Given the description of an element on the screen output the (x, y) to click on. 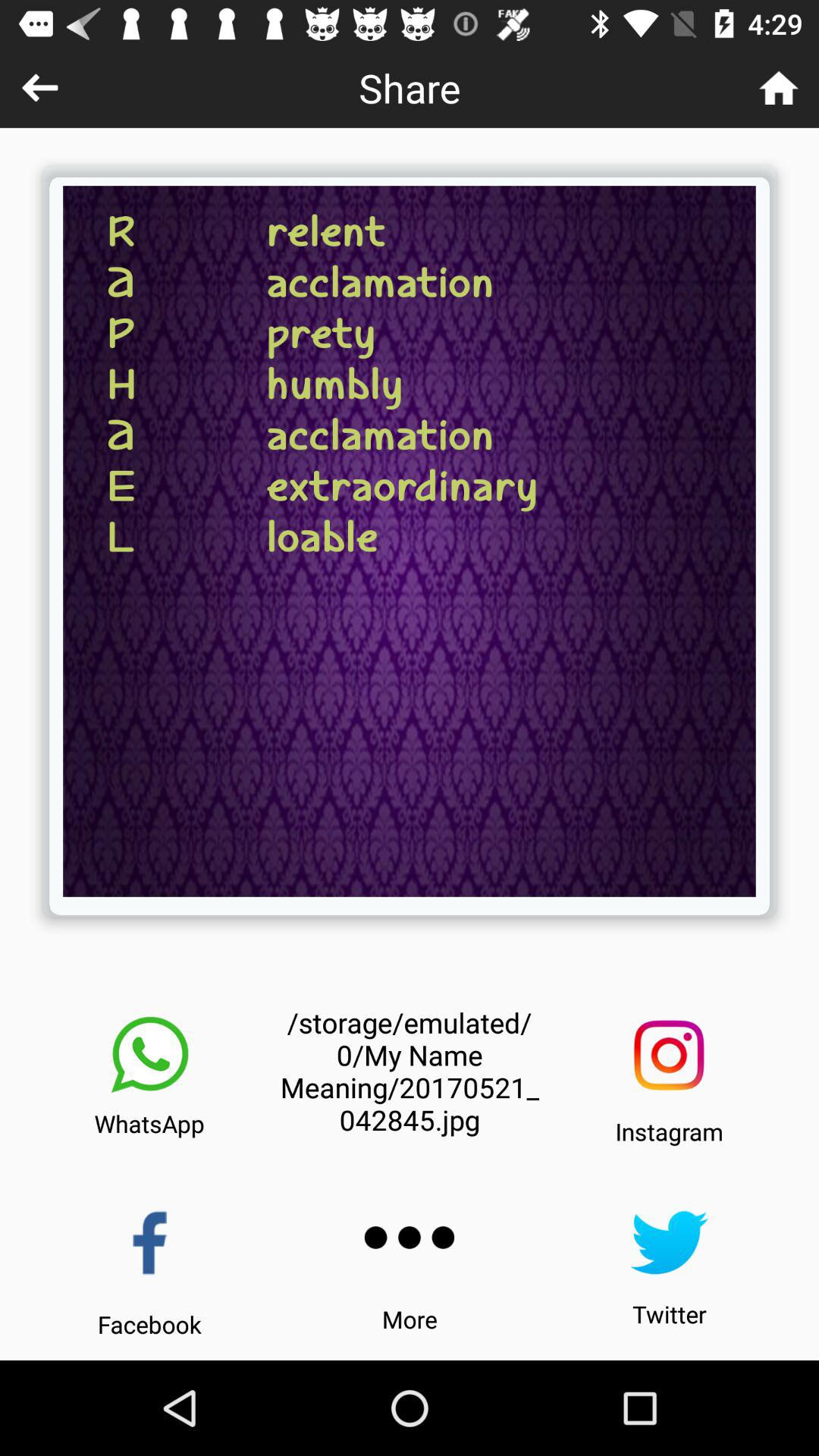
share picture on facebook (149, 1242)
